Given the description of an element on the screen output the (x, y) to click on. 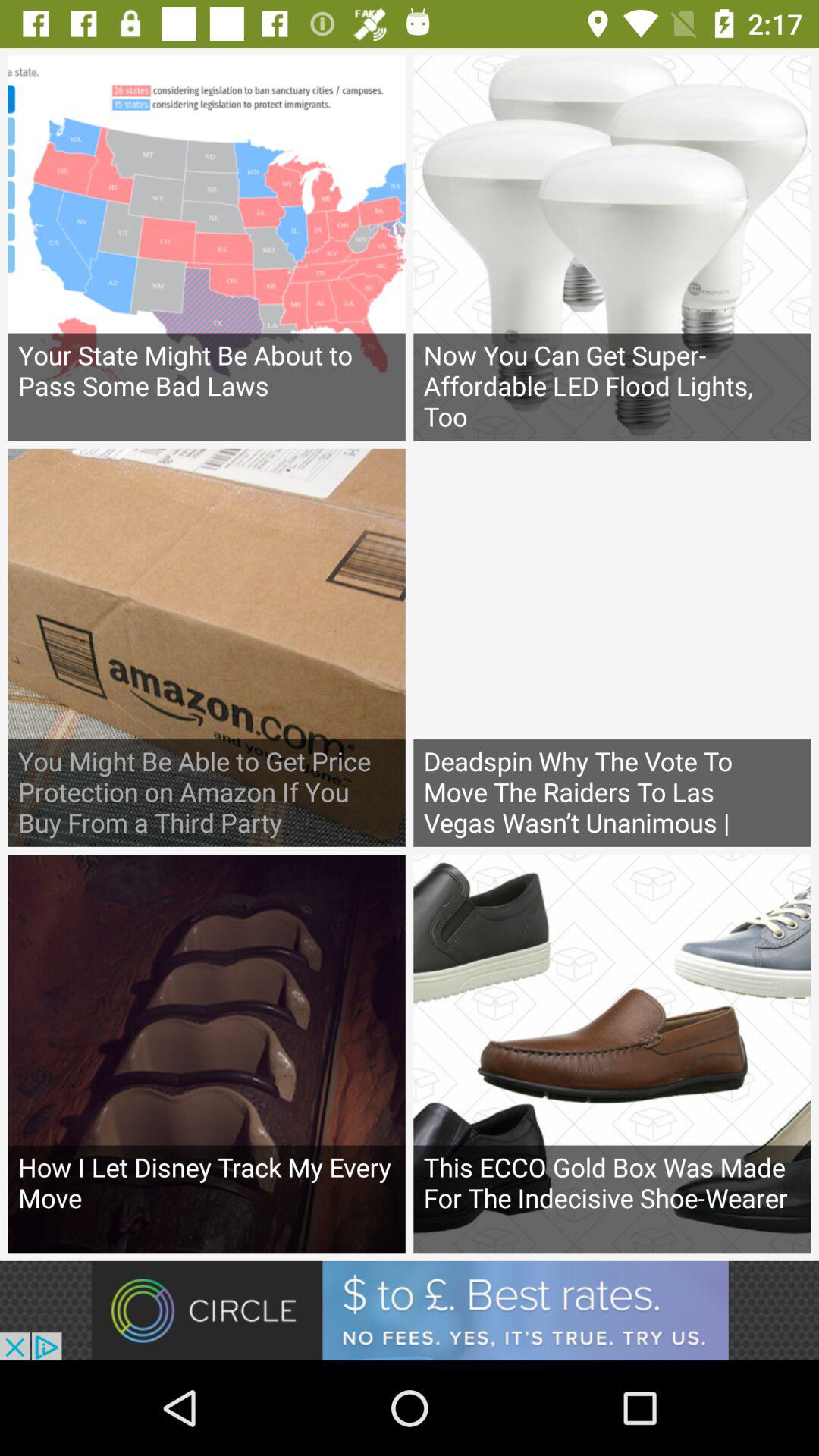
advertisement (409, 1310)
